Given the description of an element on the screen output the (x, y) to click on. 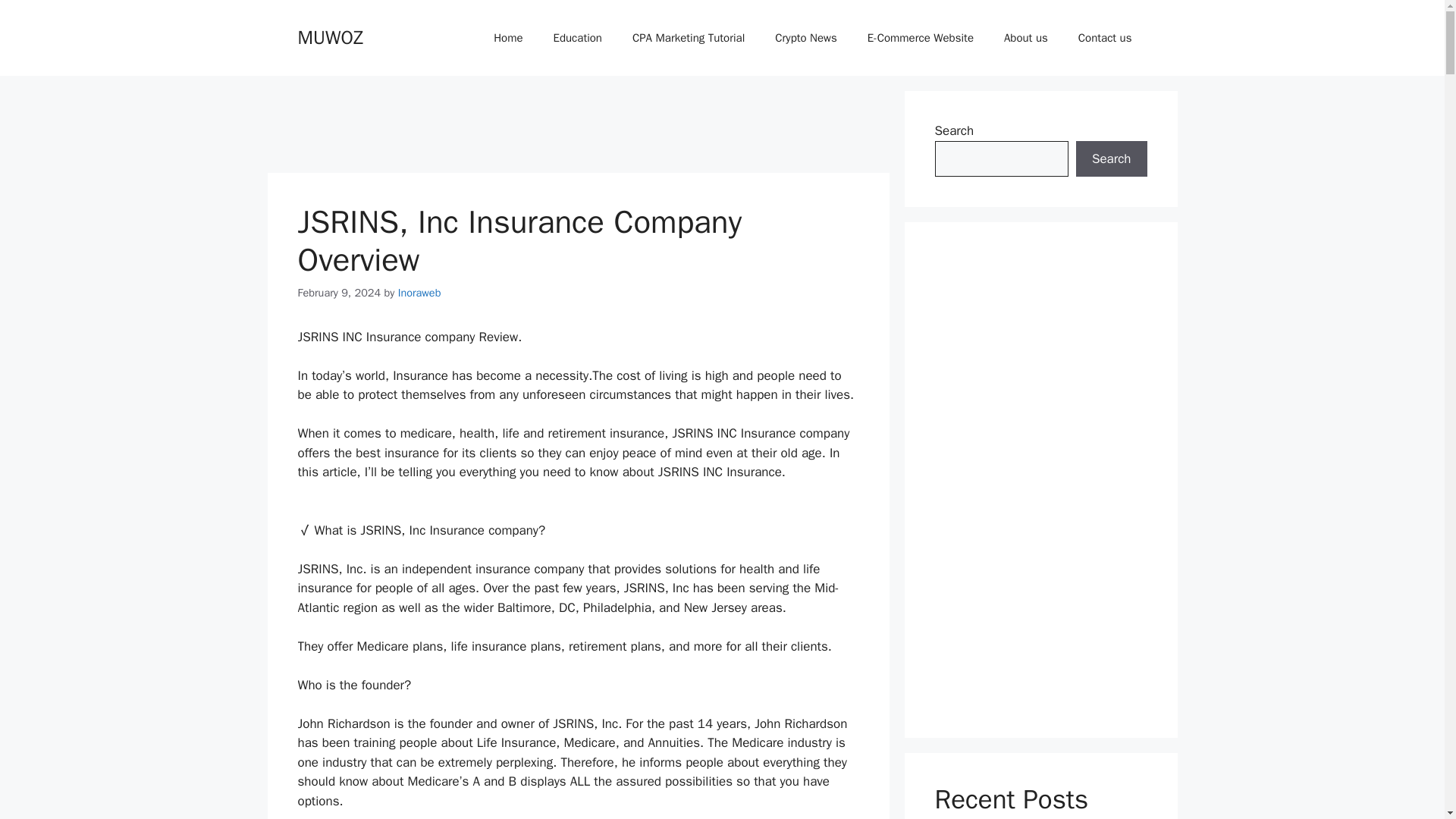
About us (1025, 37)
Crypto News (805, 37)
MUWOZ (329, 37)
Home (508, 37)
CPA Marketing Tutorial (688, 37)
Search (1111, 158)
Contact us (1104, 37)
Inoraweb (419, 292)
Education (577, 37)
View all posts by Inoraweb (419, 292)
E-Commerce Website (919, 37)
